Given the description of an element on the screen output the (x, y) to click on. 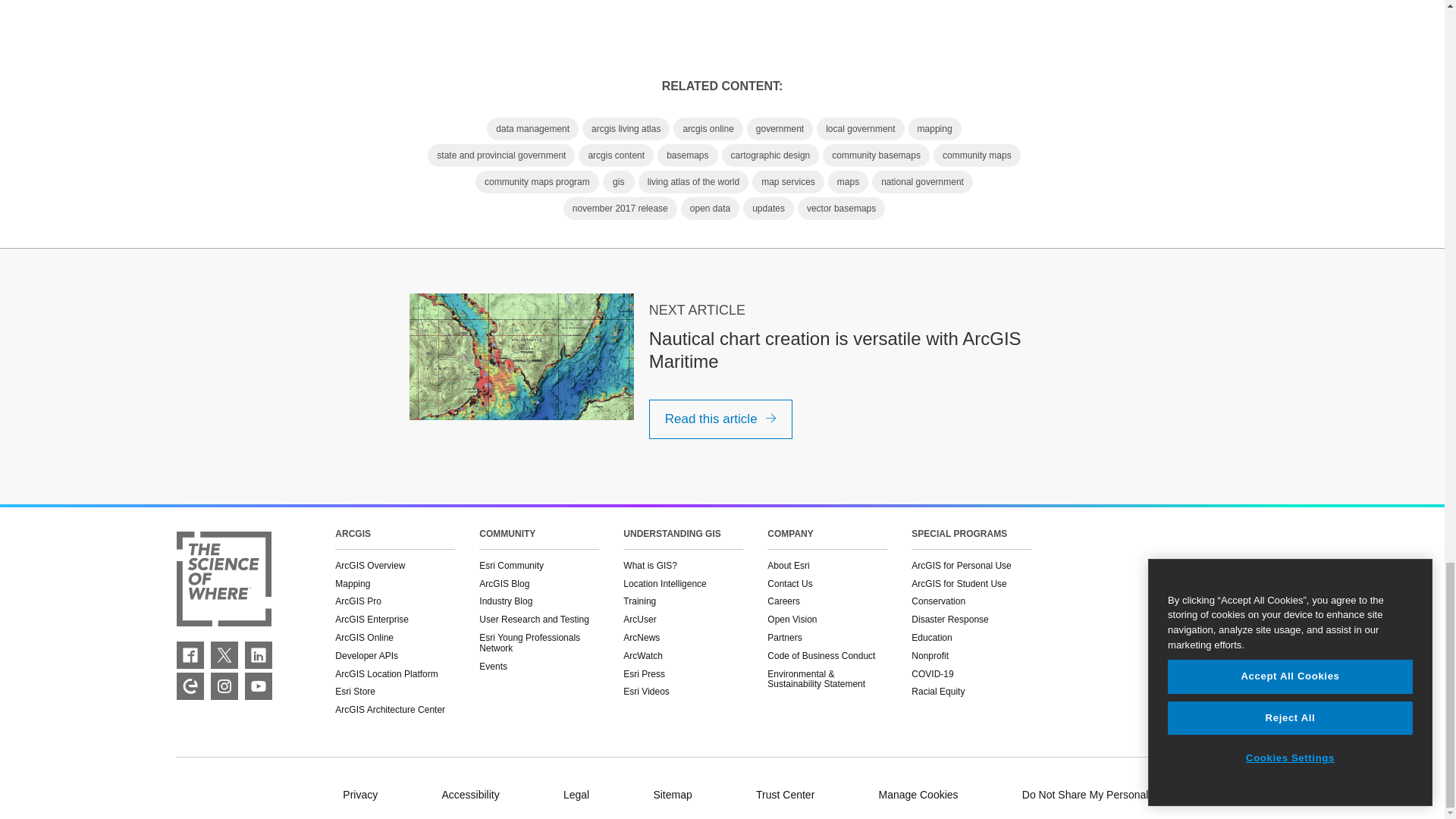
InstagramInstagram (224, 686)
TwitterTwitter (224, 655)
More about Esri and the Science of Where (223, 580)
Esri CommunityEsri Community (189, 686)
Facebook (189, 655)
Twitter (224, 655)
FacebookFacebook (189, 655)
Esri Community (189, 686)
LinkedIn (257, 655)
LinkedInLinkedIn (257, 655)
